Given the description of an element on the screen output the (x, y) to click on. 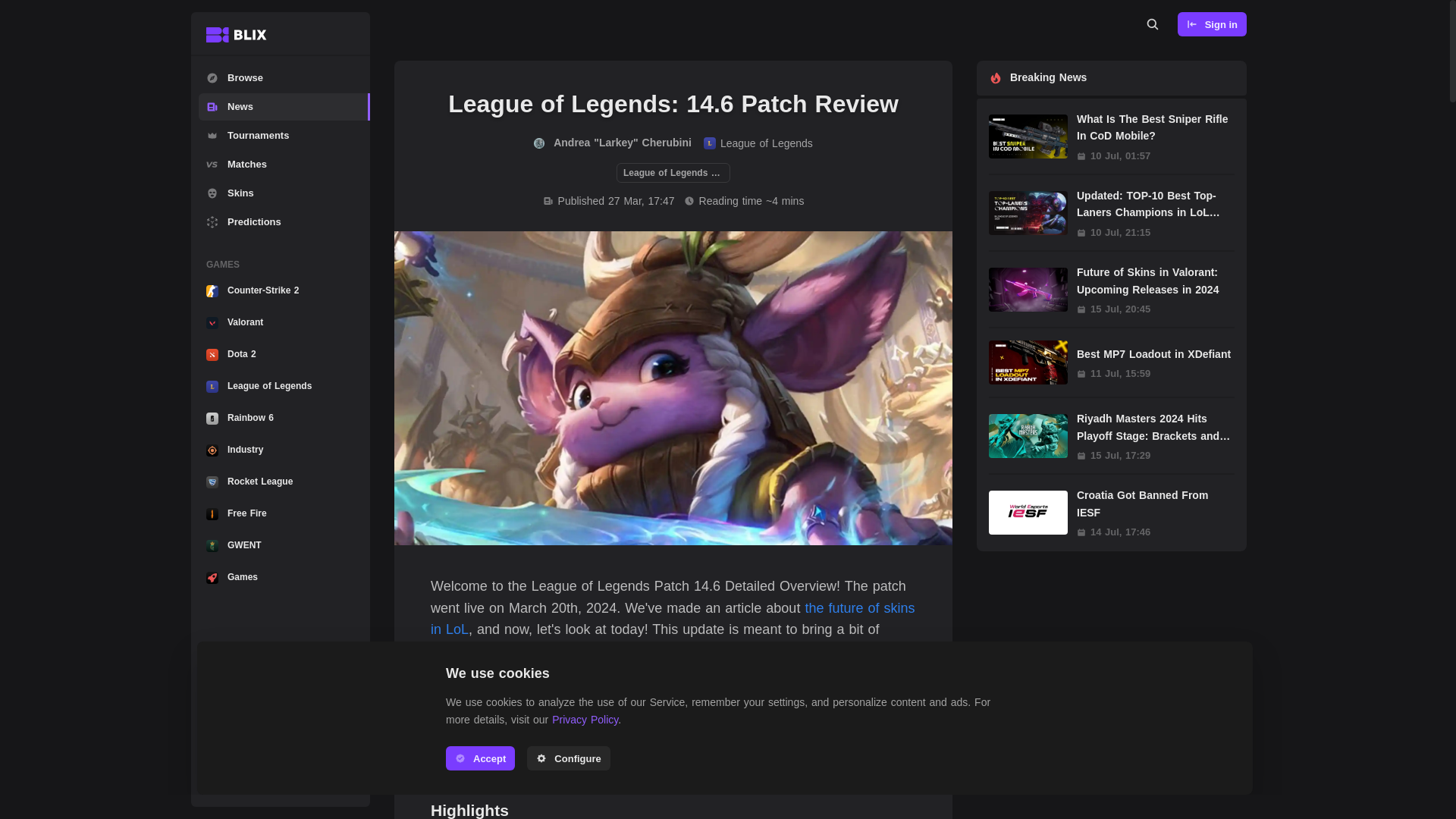
Predictions (283, 221)
Tournaments (283, 135)
Browse (283, 77)
Accept (480, 758)
Rainbow 6 (672, 751)
Privacy Policy (283, 418)
Sign in (584, 719)
Games (1211, 24)
News (283, 577)
Valorant (283, 106)
Industry (283, 322)
GWENT (283, 450)
Andrea "Larkey" Cherubini (283, 545)
Counter-Strike 2 (612, 142)
